Given the description of an element on the screen output the (x, y) to click on. 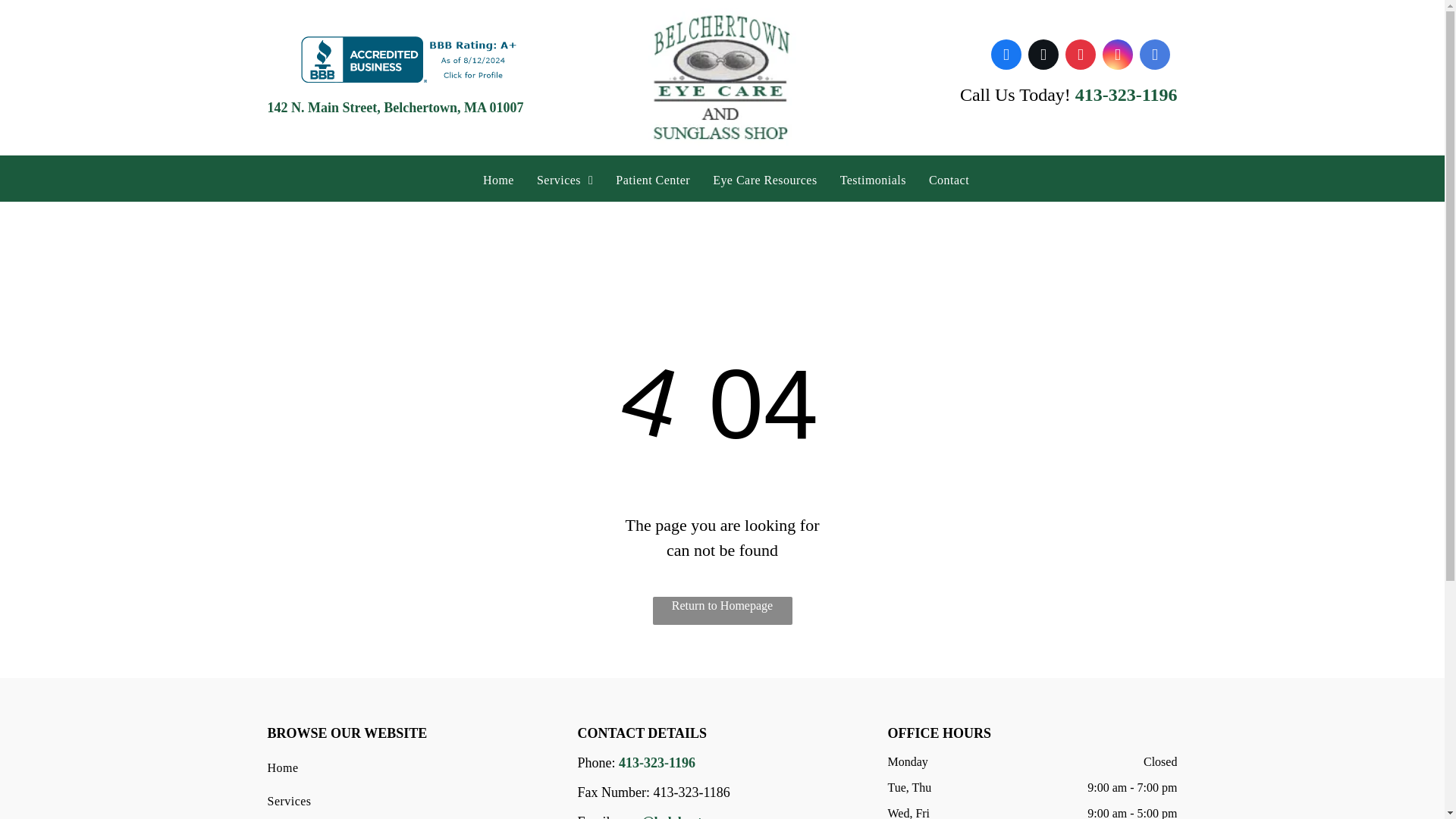
Belchertown Eye Care and Sunglass Shop (722, 77)
413-323-1196 (1126, 94)
Patient Center (652, 180)
Home (405, 767)
Services (564, 180)
Home (498, 180)
Services (405, 801)
142 N. Main Street, Belchertown, MA 01007 (394, 107)
Eye Care Resources (764, 180)
Testimonials (872, 180)
